Given the description of an element on the screen output the (x, y) to click on. 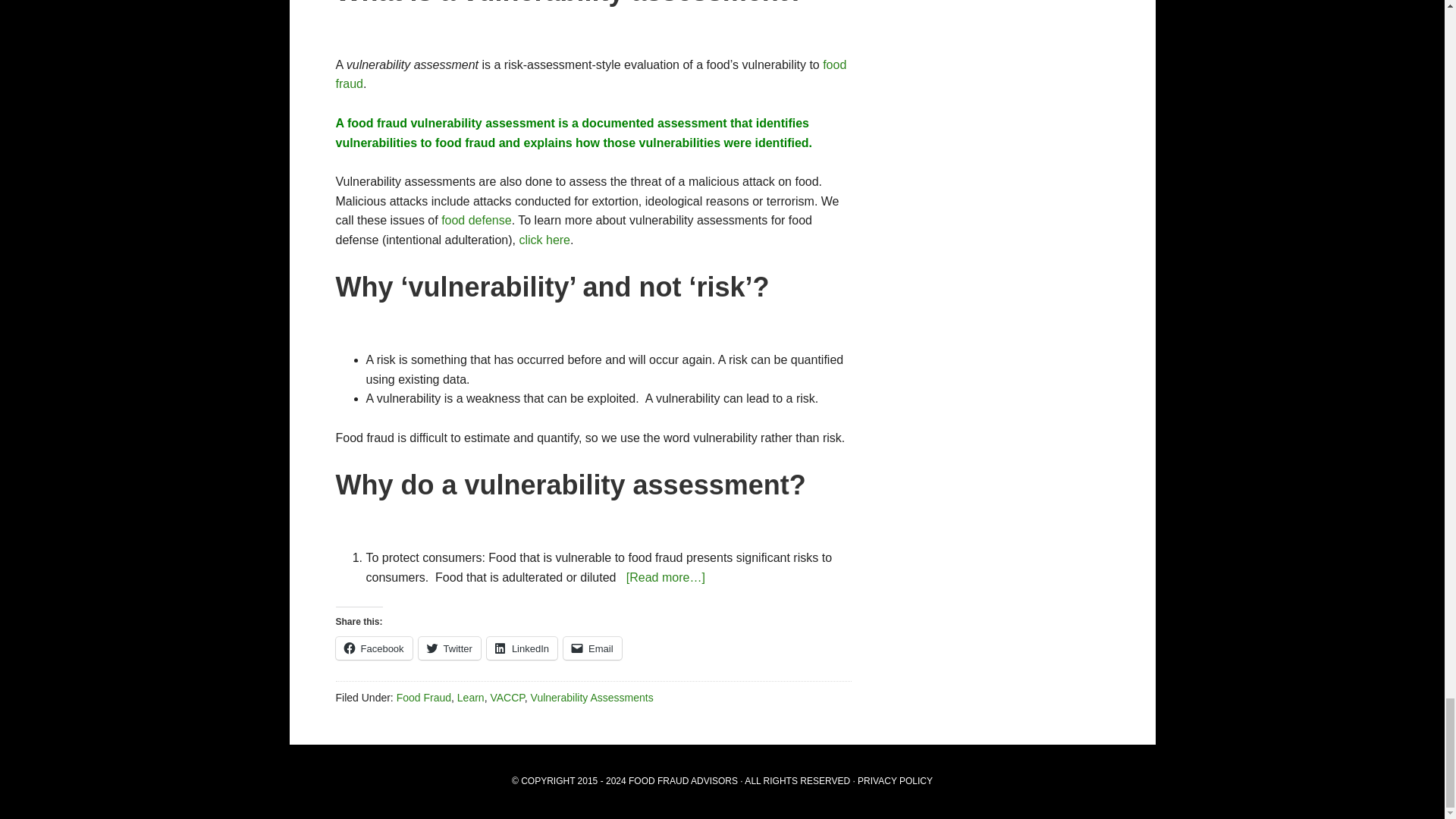
Click to share on LinkedIn (521, 648)
VACCP (506, 697)
Food Fraud (423, 697)
LinkedIn (521, 648)
food defense (476, 219)
Facebook (373, 648)
Email (592, 648)
click here (544, 239)
food fraud (589, 74)
Click to share on Facebook (373, 648)
Click to email a link to a friend (592, 648)
Twitter (449, 648)
Learn (470, 697)
Click to share on Twitter (449, 648)
